Given the description of an element on the screen output the (x, y) to click on. 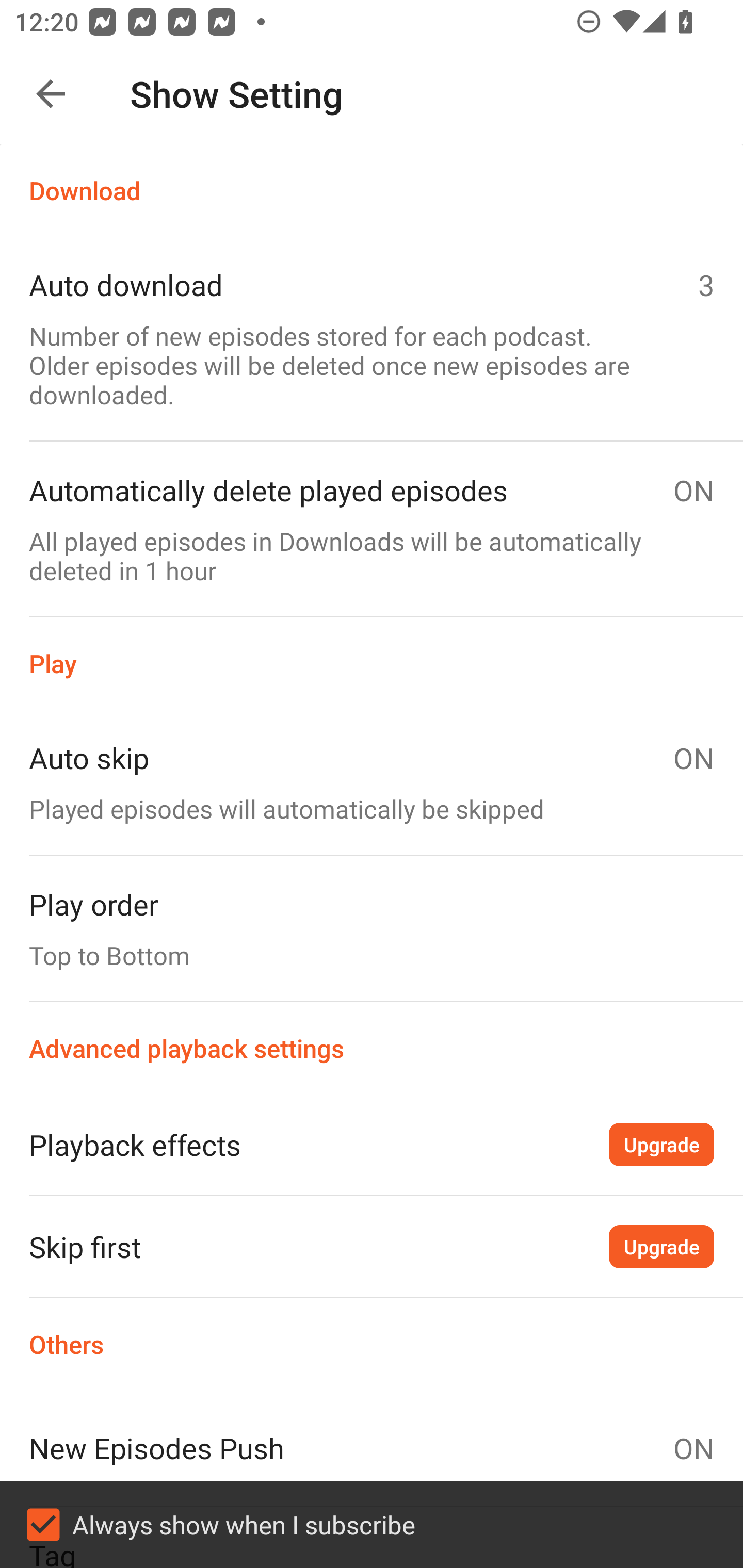
Navigate up (50, 93)
Play order Top to Bottom (371, 928)
Playback effects Upgrade (371, 1144)
Skip first Upgrade (371, 1246)
New Episodes Push ON (371, 1447)
Always show when I subscribe (371, 1524)
